Given the description of an element on the screen output the (x, y) to click on. 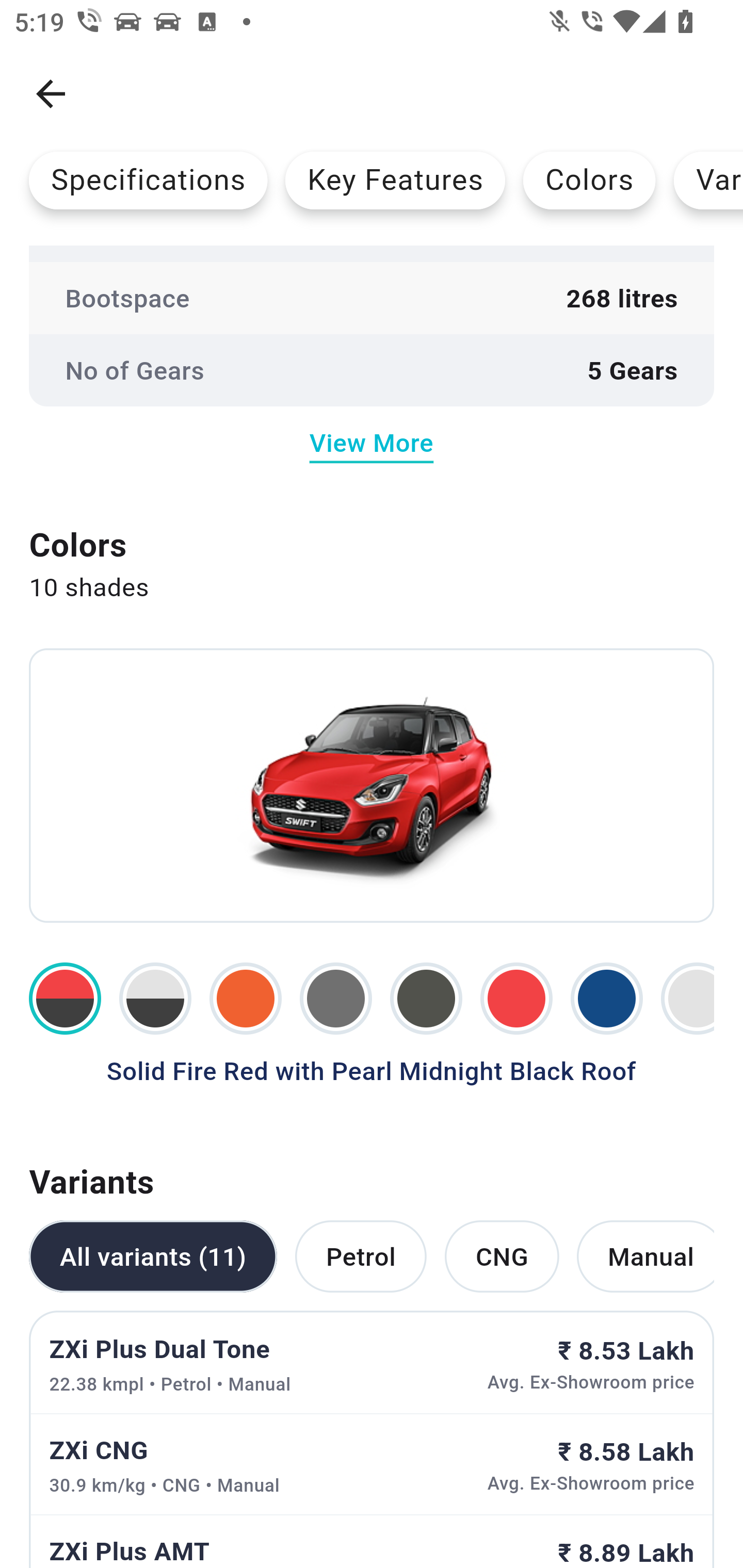
Back (50, 93)
Specifications (147, 180)
Key Features (395, 180)
Colors (589, 180)
All variants (11) (152, 1255)
Petrol (360, 1255)
CNG (501, 1255)
Manual (645, 1255)
ZXi Plus AMT
Avg. Ex-Showroom price ₹ 8.89 Lakh (371, 1541)
